Given the description of an element on the screen output the (x, y) to click on. 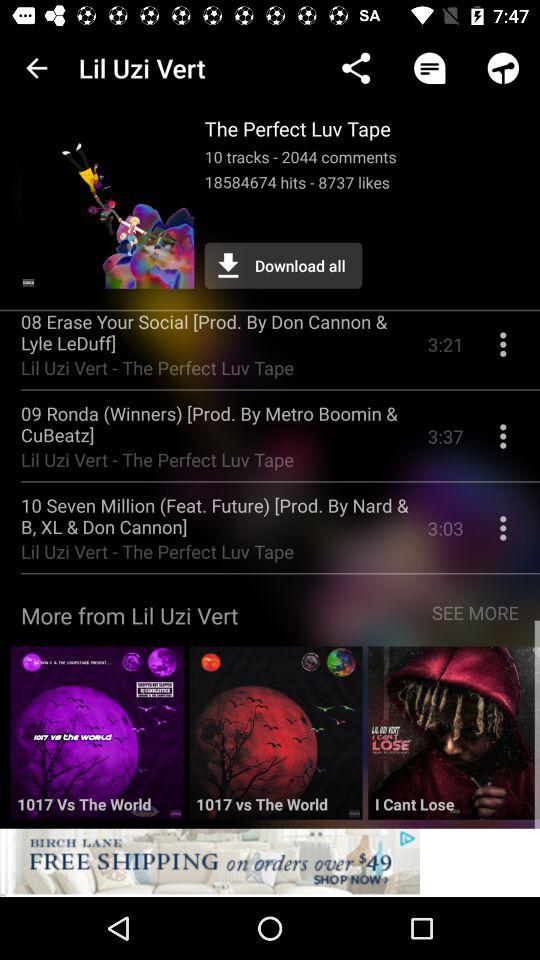
open download all item (283, 265)
